Given the description of an element on the screen output the (x, y) to click on. 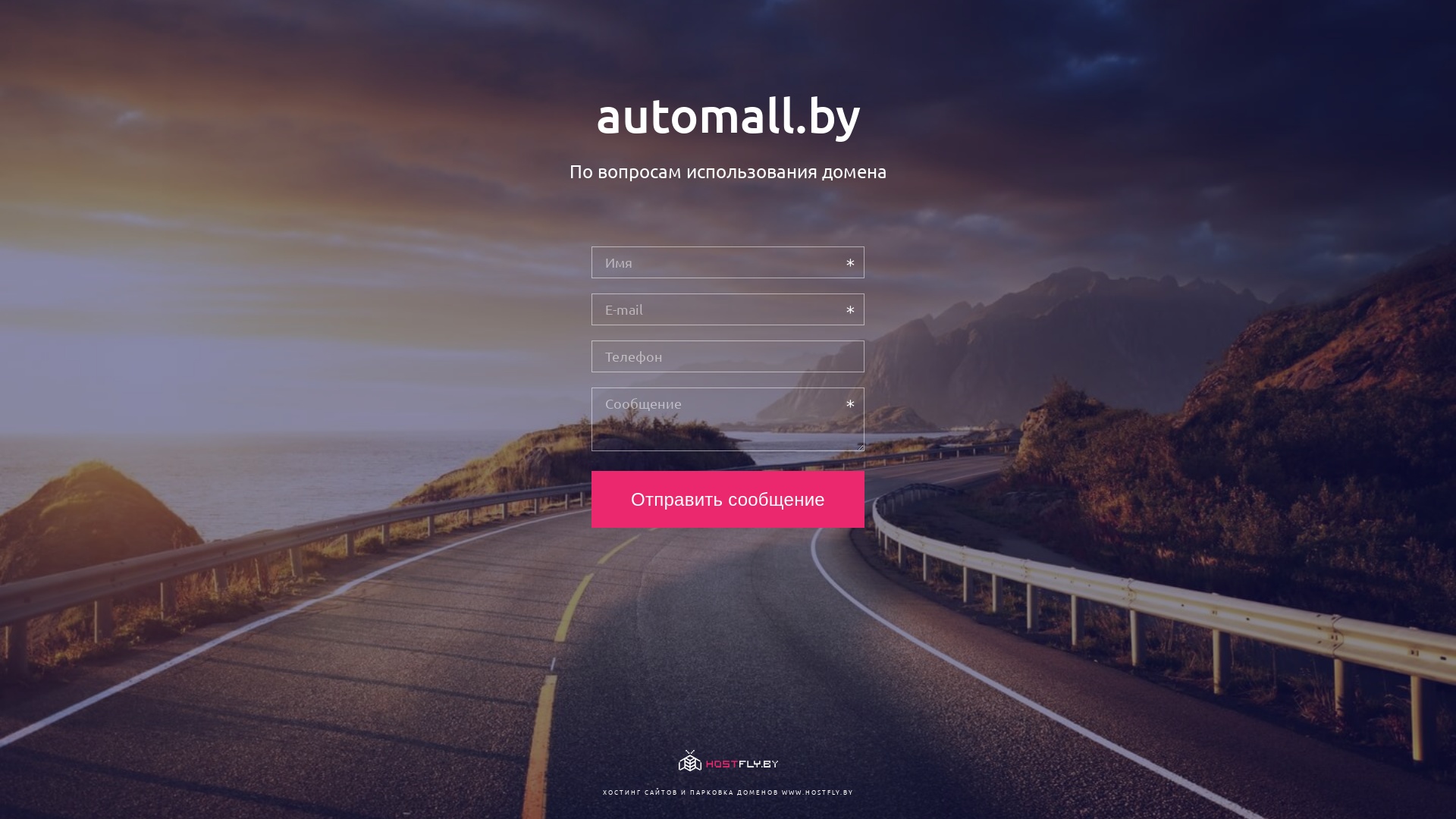
WWW.HOSTFLY.BY Element type: text (817, 791)
